Given the description of an element on the screen output the (x, y) to click on. 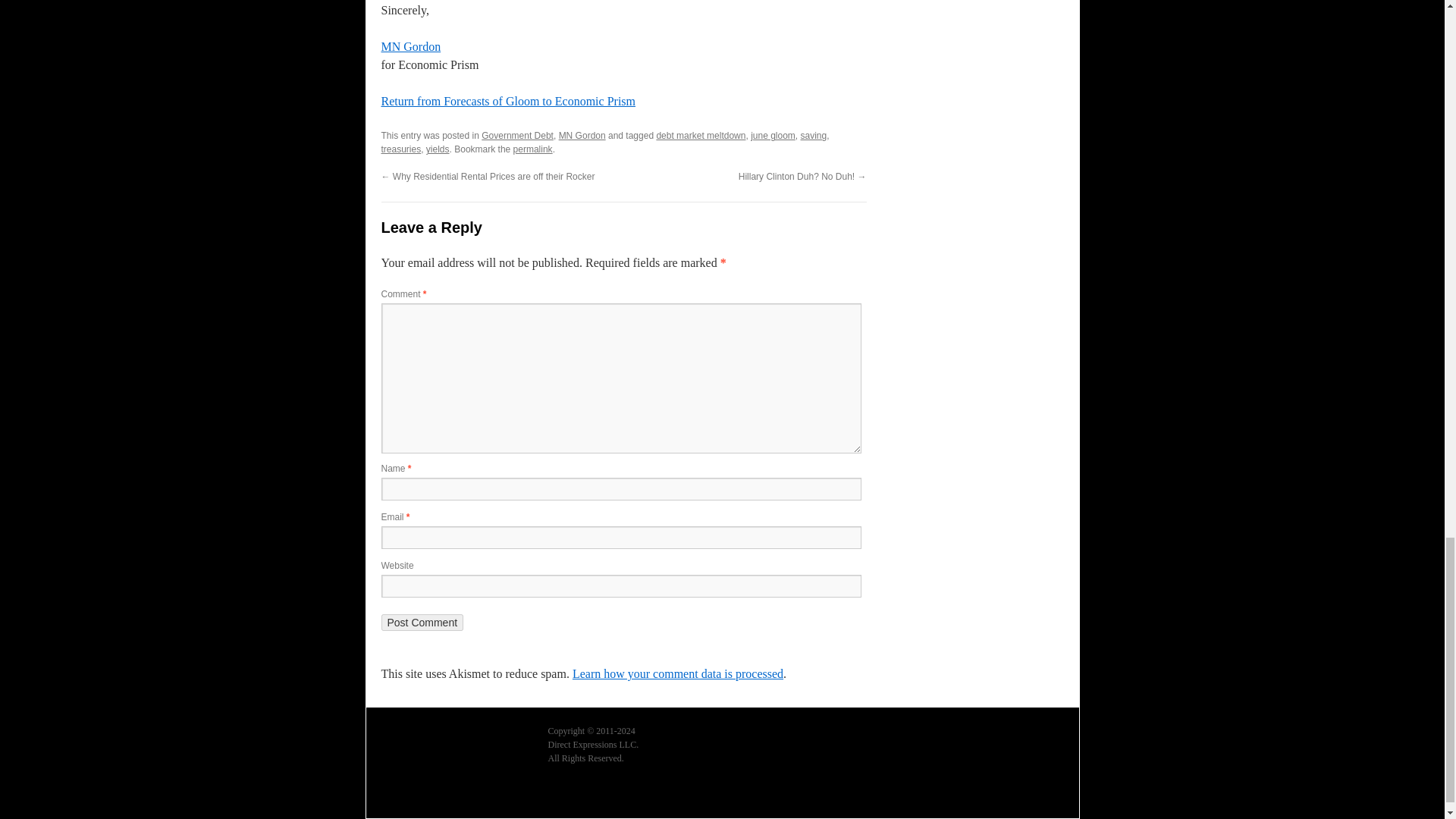
Permalink to Forecasts of Gloom (533, 149)
Economic Prism (406, 797)
debt market meltdown (700, 135)
Government Debt (517, 135)
Post Comment (421, 622)
MN Gordon (410, 46)
Return from Forecasts of Gloom to Economic Prism (507, 101)
MN Gordon (582, 135)
june gloom (772, 135)
